Given the description of an element on the screen output the (x, y) to click on. 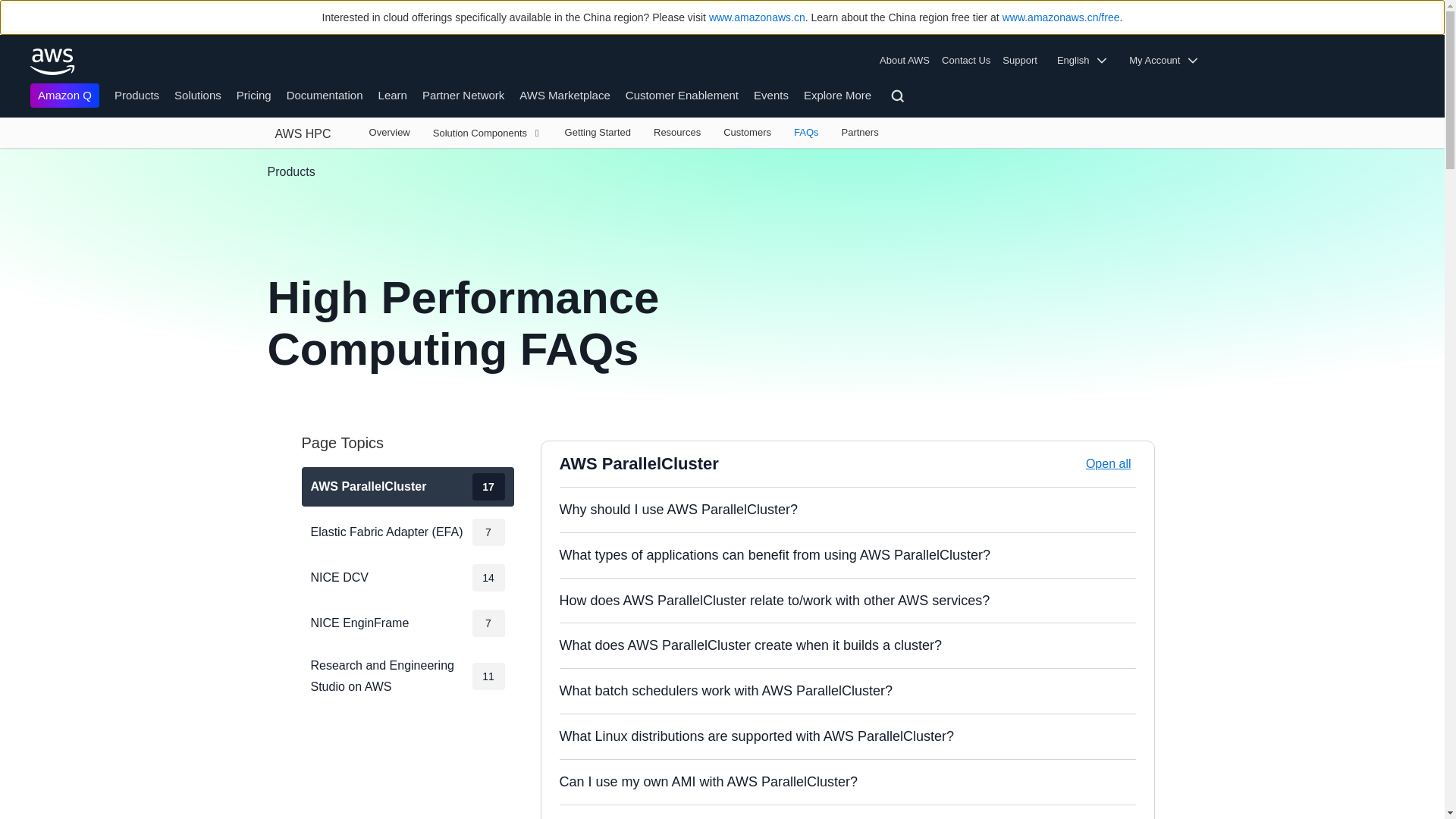
Amazon Q (64, 95)
My Account   (1168, 60)
Documentation (324, 94)
Explore More (836, 94)
Partner Network (462, 94)
English   (1086, 60)
AWS Marketplace (564, 94)
Click here to return to Amazon Web Services homepage (52, 61)
Support (1023, 60)
www.amazonaws.cn (757, 17)
